Given the description of an element on the screen output the (x, y) to click on. 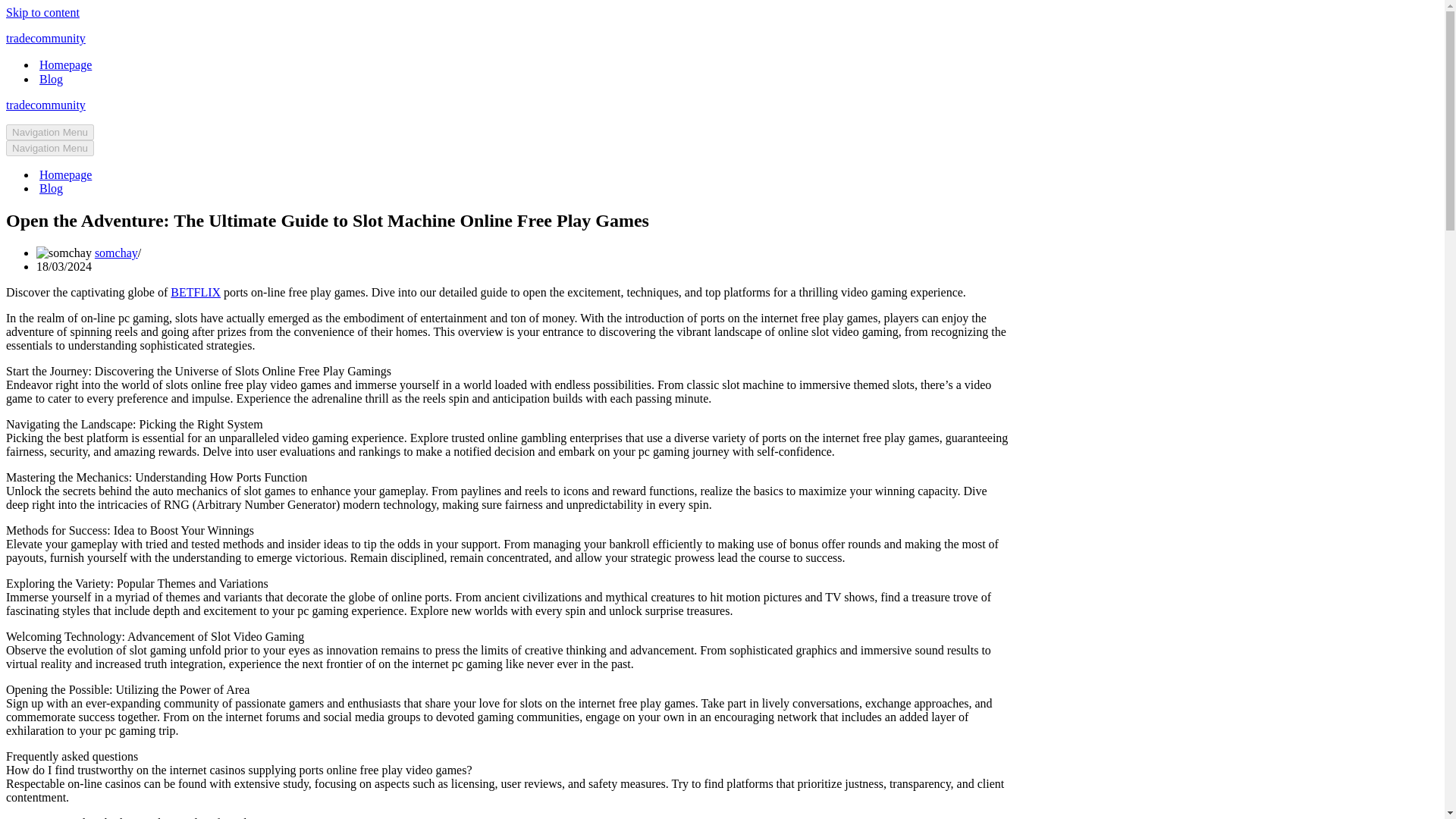
Homepage (65, 174)
Posts by somchay (116, 252)
BETFLIX (195, 291)
Navigation Menu (49, 132)
Blog (50, 79)
Homepage (65, 64)
Skip to content (42, 11)
somchay (116, 252)
Blog (50, 188)
Navigation Menu (49, 148)
